Given the description of an element on the screen output the (x, y) to click on. 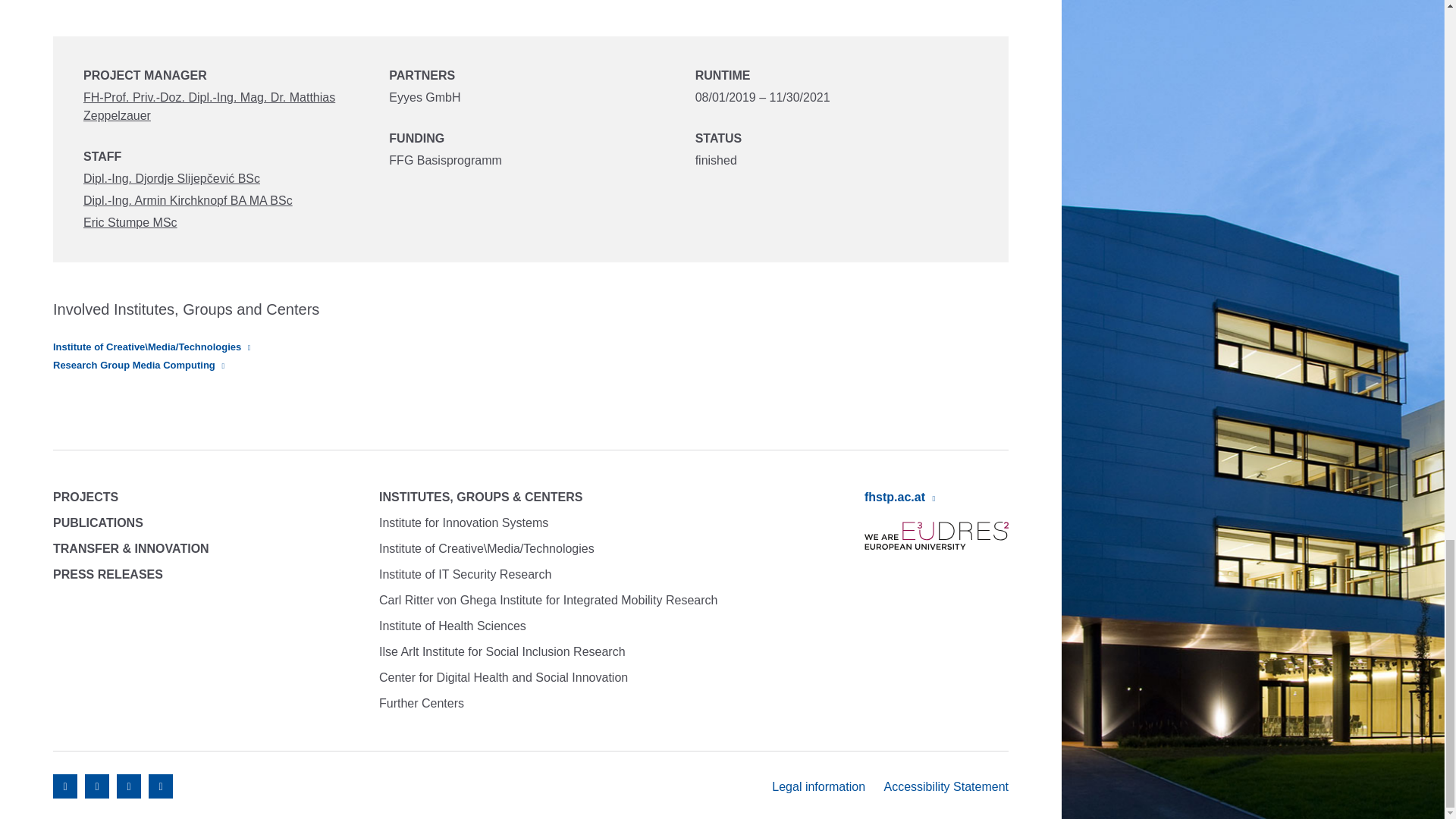
Eric Stumpe MSc (129, 222)
Research Group Media Computing (138, 365)
Dipl.-Ing. Armin Kirchknopf BA MA BSc (187, 200)
FH-Prof. Priv.-Doz. Dipl.-Ing. Mag. Dr. Matthias Zeppelzauer (208, 106)
PROJECTS (84, 497)
